Given the description of an element on the screen output the (x, y) to click on. 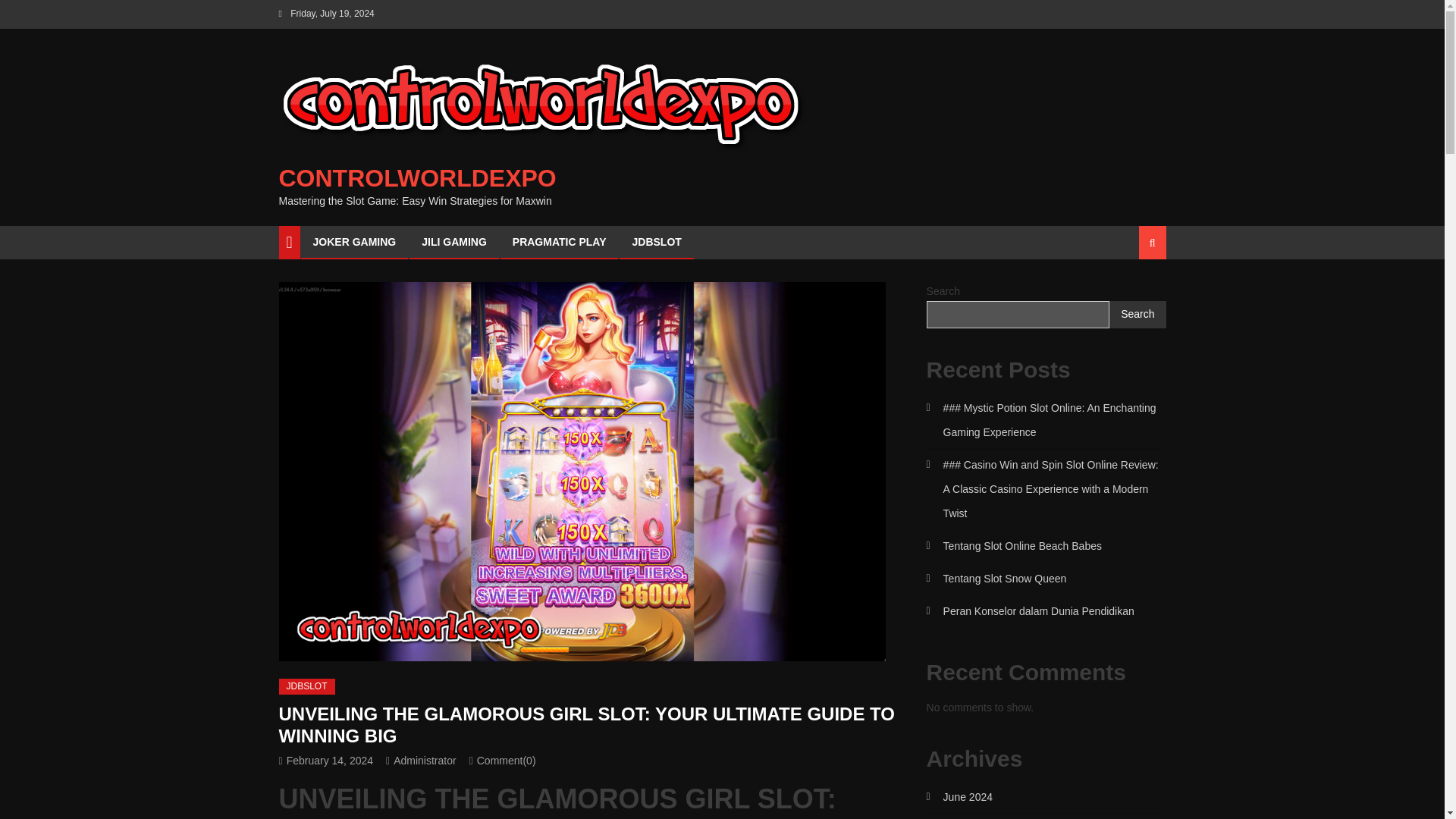
February 14, 2024 (329, 760)
JILI GAMING (453, 241)
JOKER GAMING (354, 241)
JDBSLOT (656, 241)
PRAGMATIC PLAY (558, 241)
CONTROLWORLDEXPO (417, 177)
Administrator (424, 760)
Search (1133, 295)
JDBSLOT (306, 686)
